Given the description of an element on the screen output the (x, y) to click on. 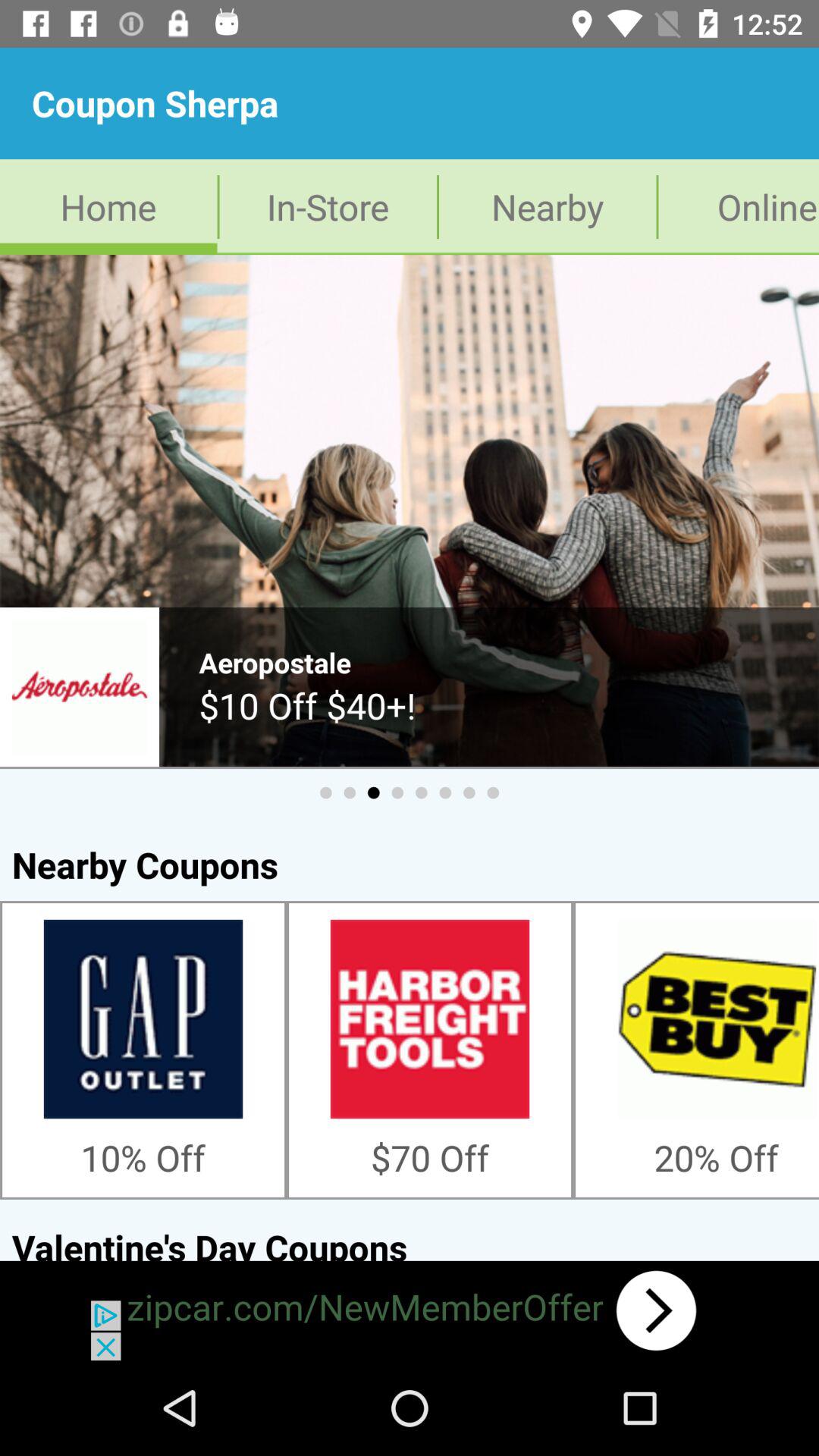
advertisements (409, 1310)
